Given the description of an element on the screen output the (x, y) to click on. 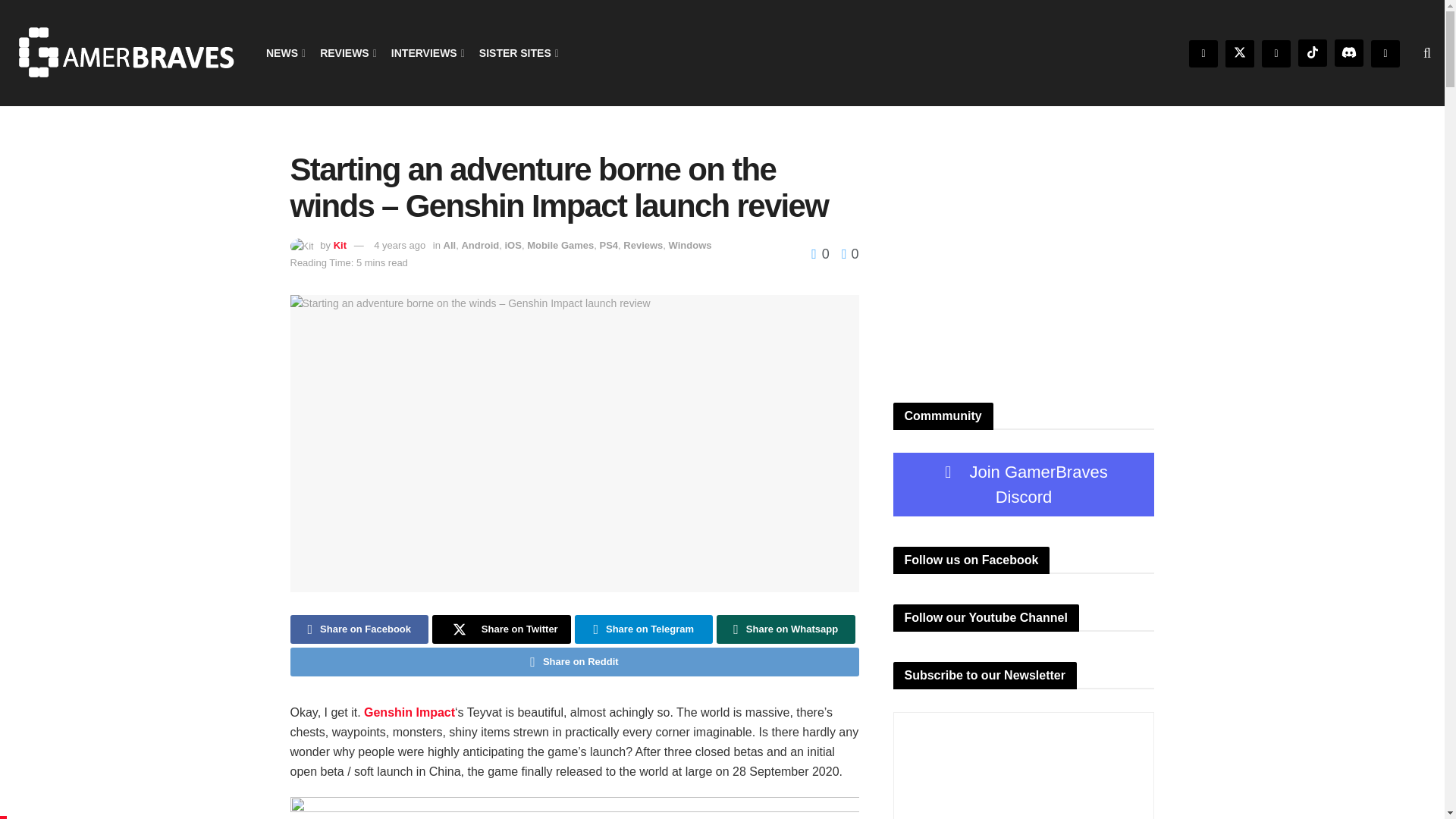
3rd party ad content (1007, 277)
NEWS (284, 52)
